Given the description of an element on the screen output the (x, y) to click on. 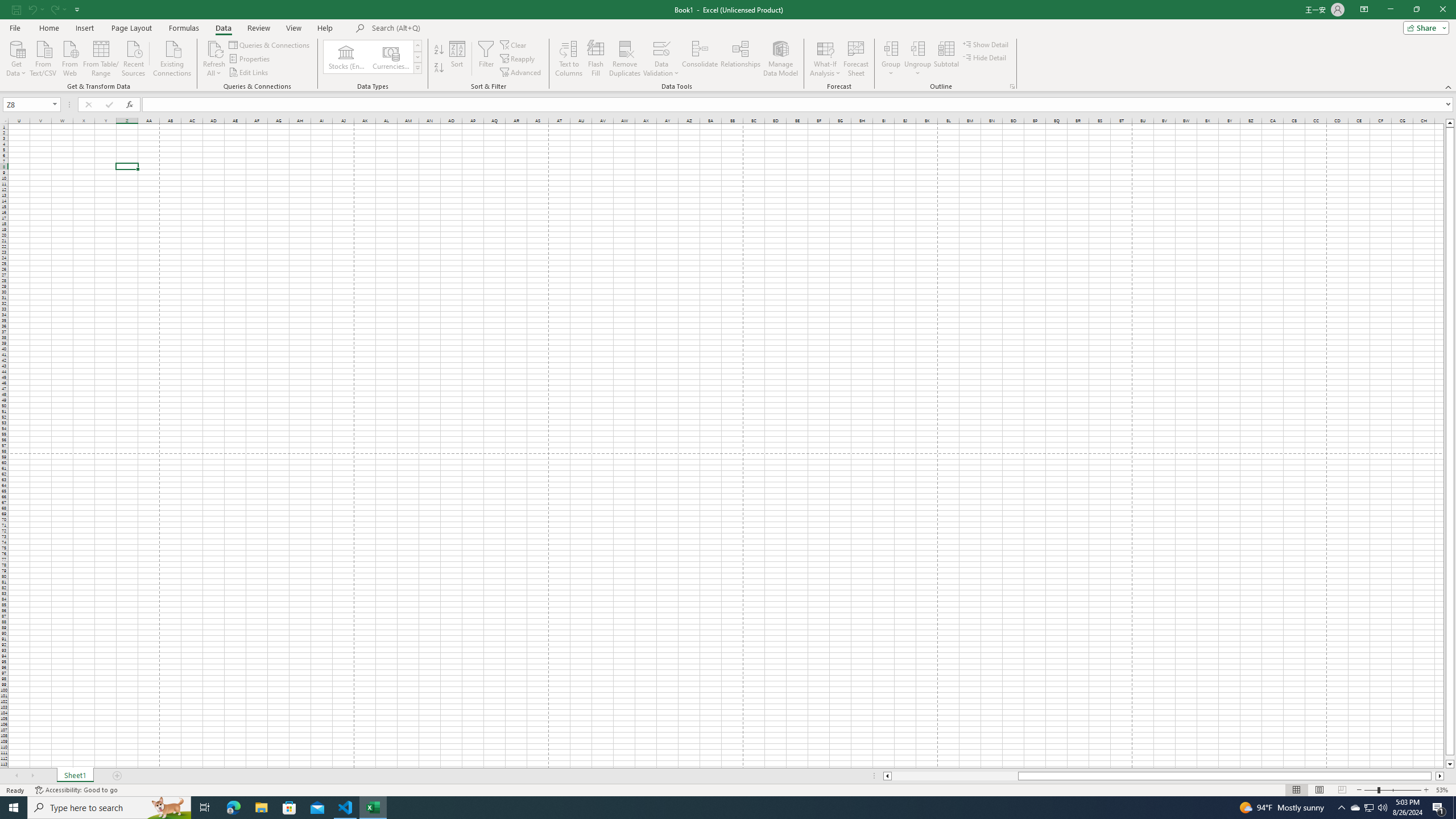
Group and Outline Settings (1011, 85)
AutomationID: ConvertToLinkedEntity (372, 56)
Show Detail (985, 44)
Page left (954, 775)
